Given the description of an element on the screen output the (x, y) to click on. 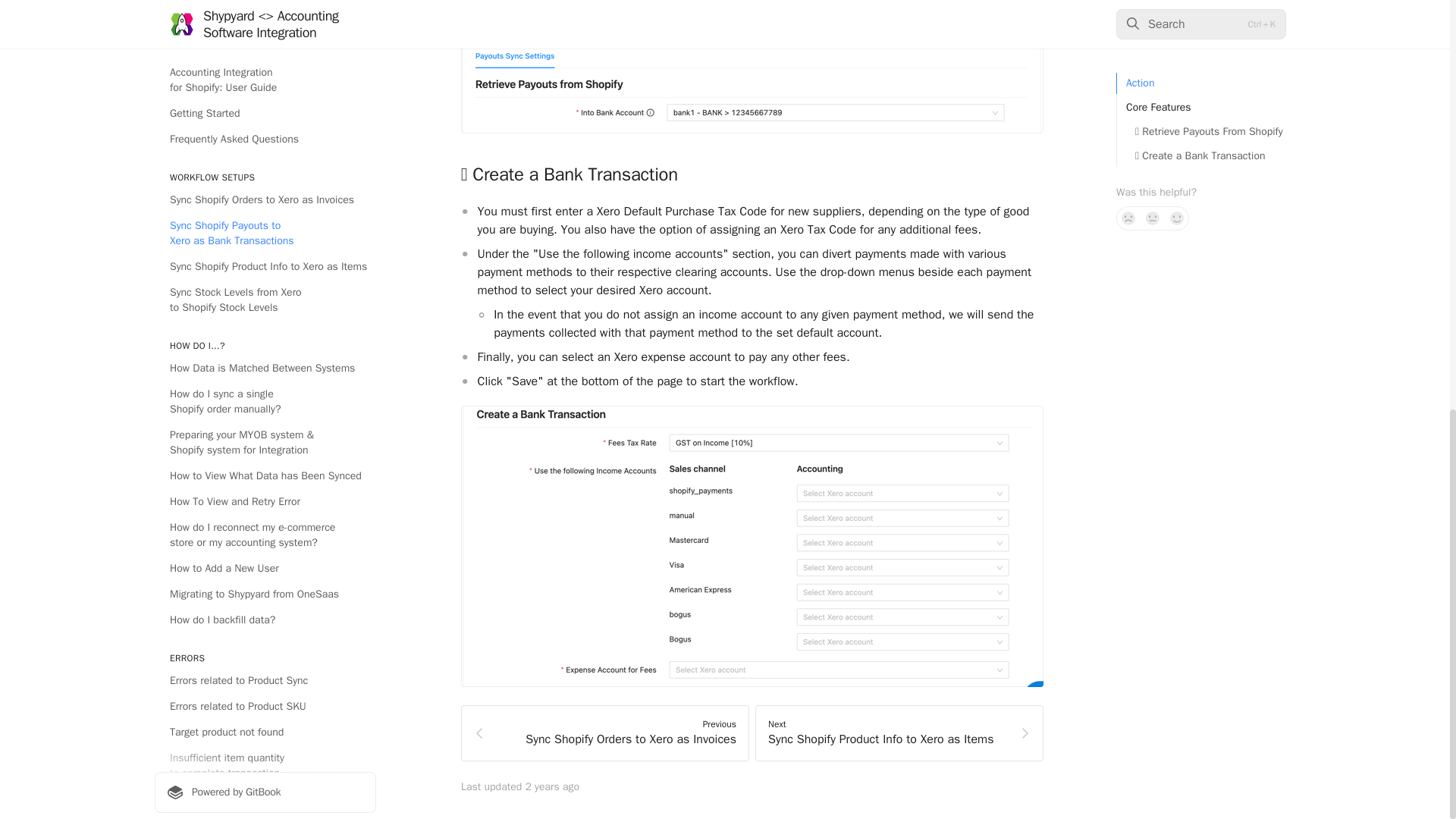
Duplicate sales (264, 30)
Privacy (264, 219)
Choosing a Subscription Plan (264, 193)
IncomeAccountFreight Linked Account (605, 733)
Errors related with MYOB API (264, 107)
The contact has been archived (264, 133)
Tax code is not mapped (264, 8)
Payments against Authorized documents (264, 81)
